Given the description of an element on the screen output the (x, y) to click on. 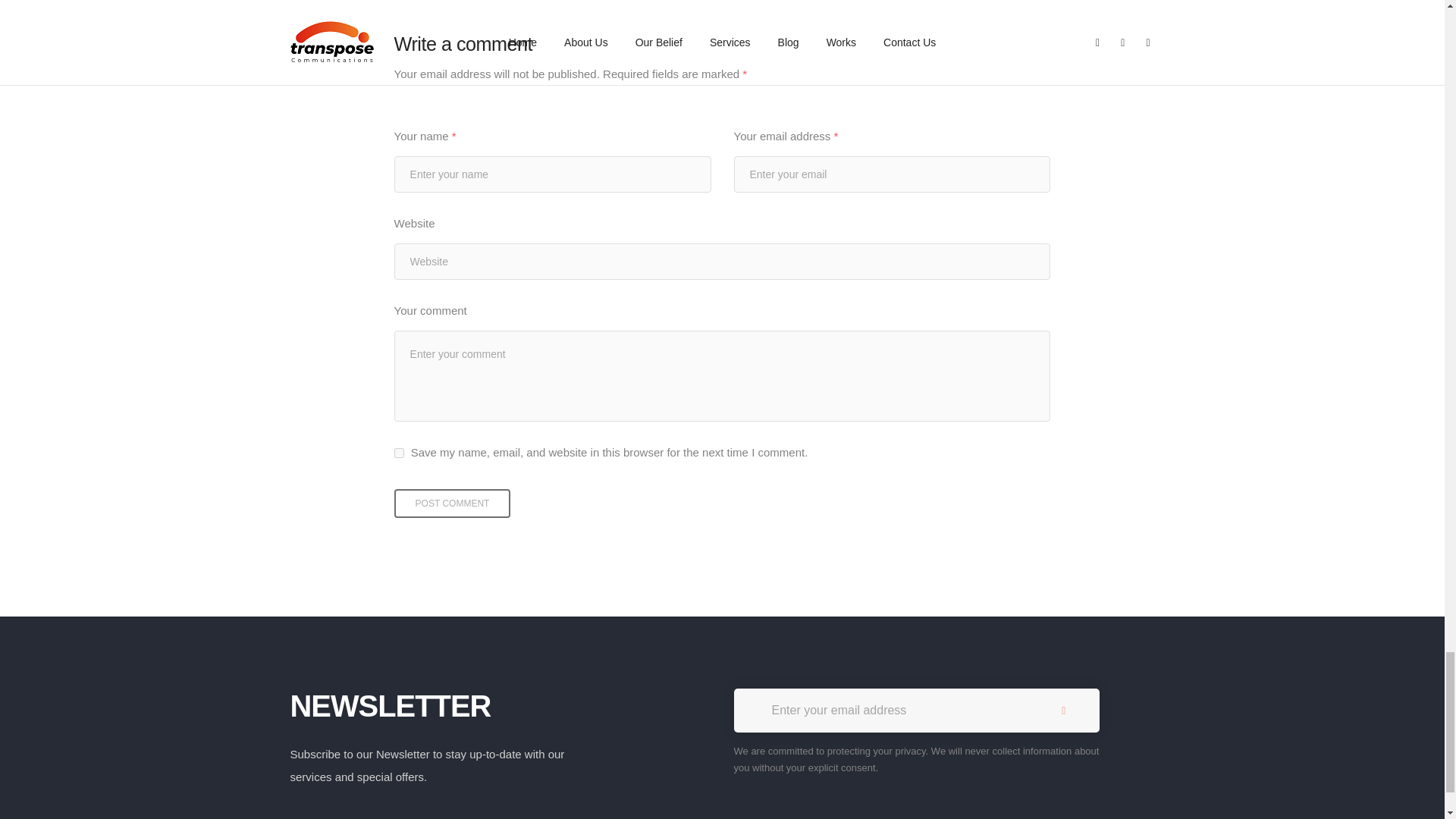
POST COMMENT (452, 502)
yes (399, 452)
